Given the description of an element on the screen output the (x, y) to click on. 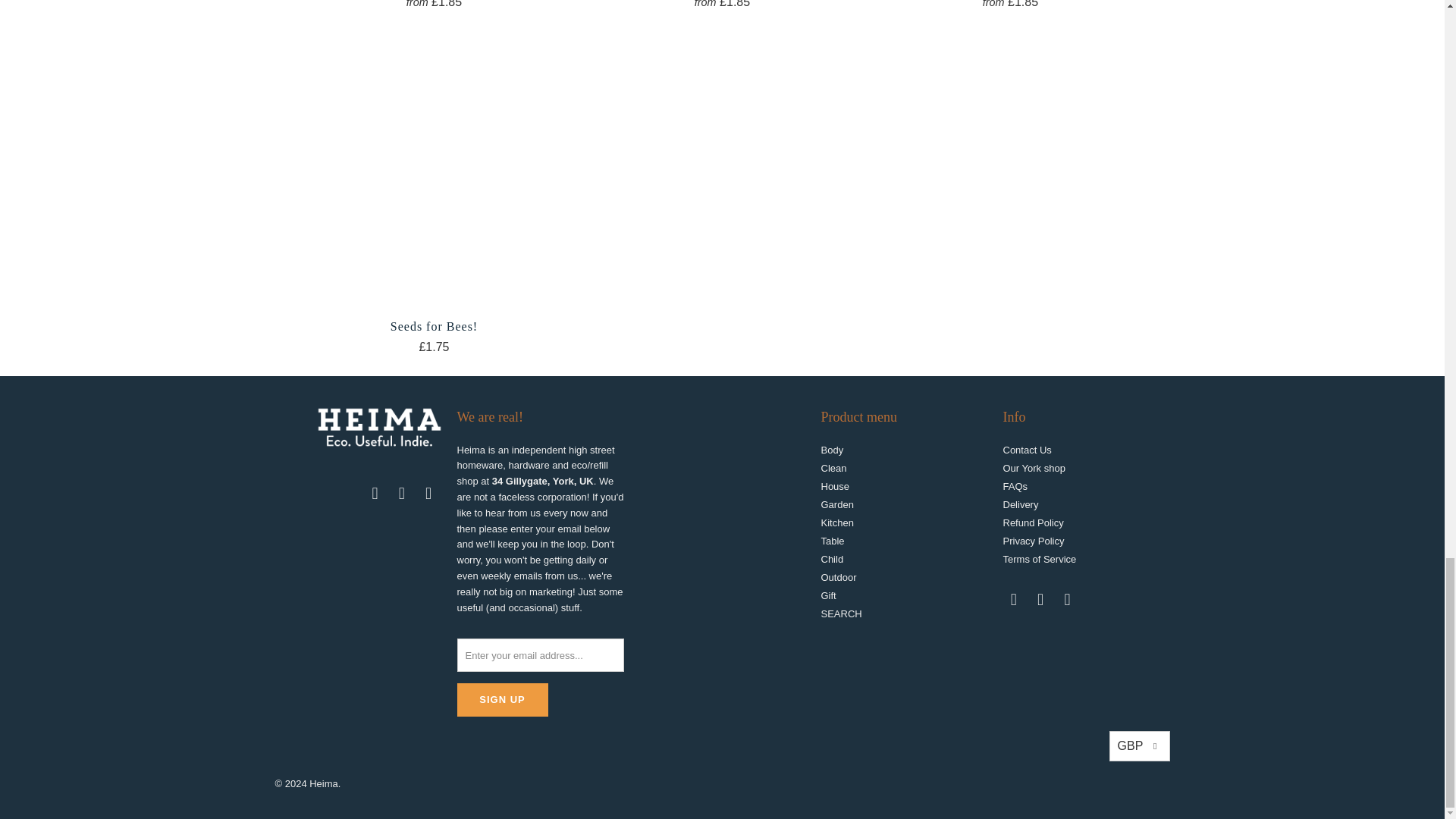
Sign Up (502, 699)
Email Heima (375, 493)
